Given the description of an element on the screen output the (x, y) to click on. 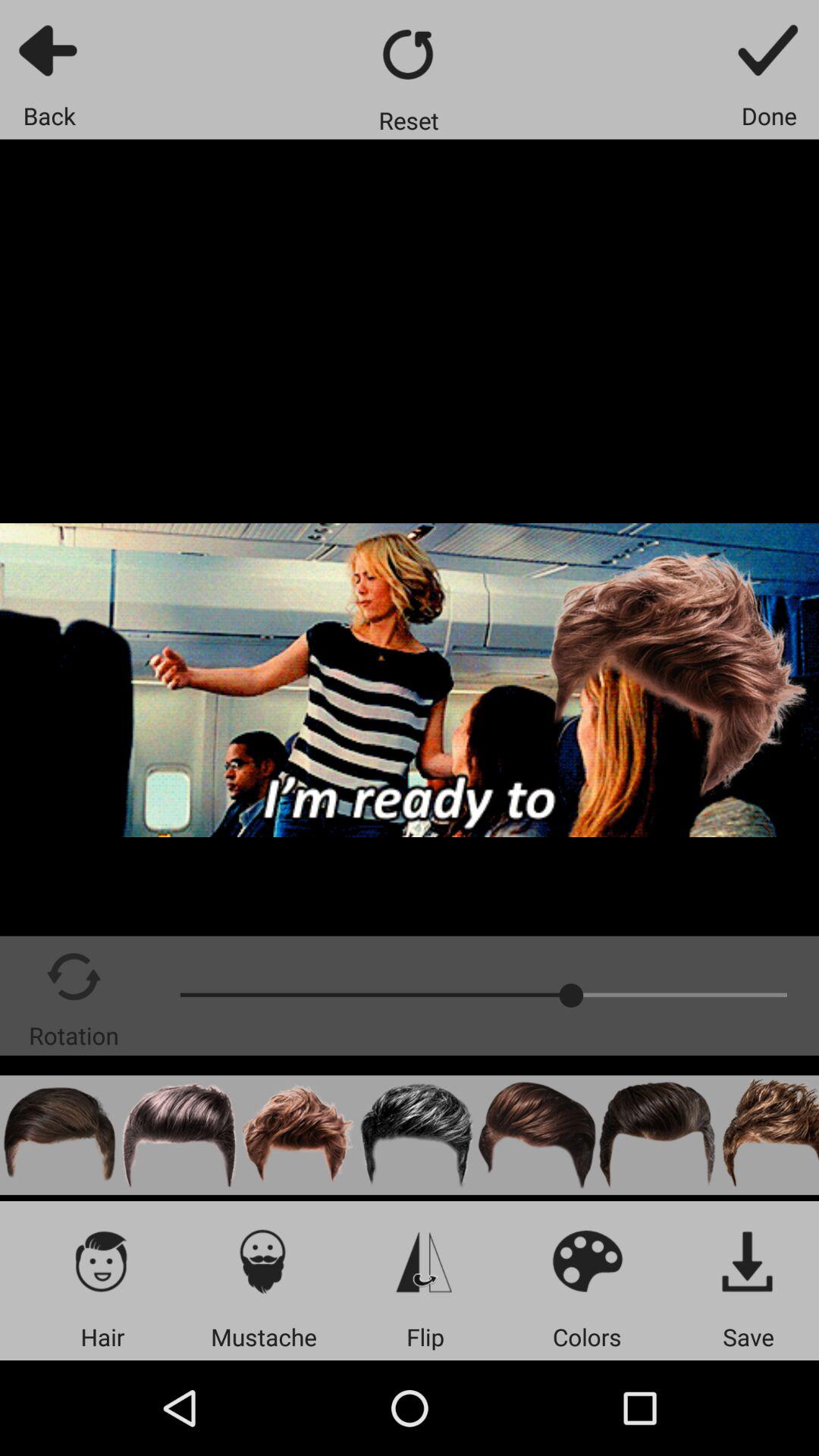
view mustache options (263, 1260)
